Given the description of an element on the screen output the (x, y) to click on. 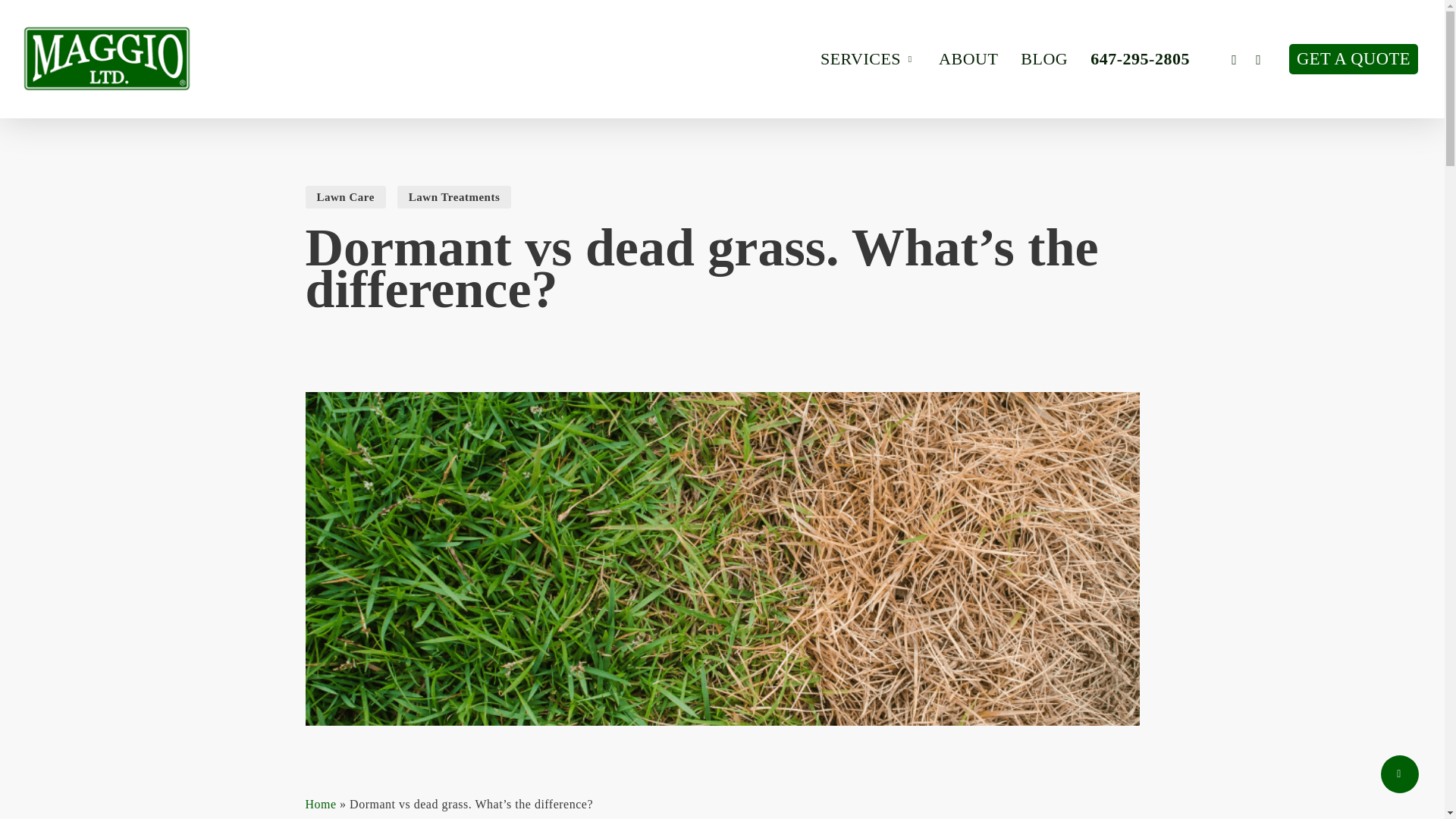
647-295-2805 (1139, 59)
FACEBOOK (1234, 59)
Home (320, 803)
SERVICES (868, 59)
Lawn Care (344, 196)
INSTAGRAM (1258, 59)
ABOUT (968, 59)
GET A QUOTE (1353, 59)
BLOG (1043, 59)
Lawn Treatments (454, 196)
